Given the description of an element on the screen output the (x, y) to click on. 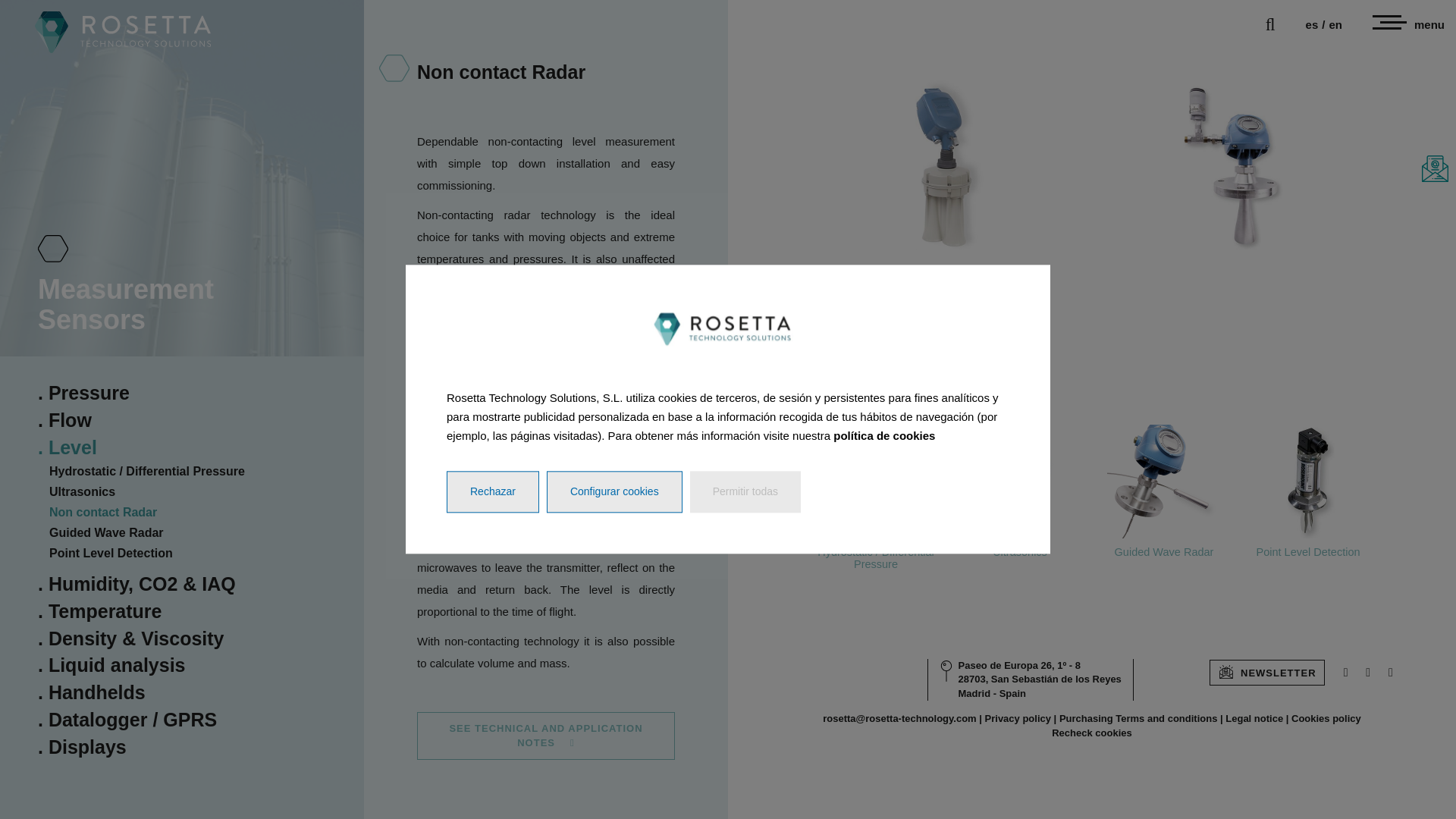
en (1334, 24)
es (1312, 24)
